Given the description of an element on the screen output the (x, y) to click on. 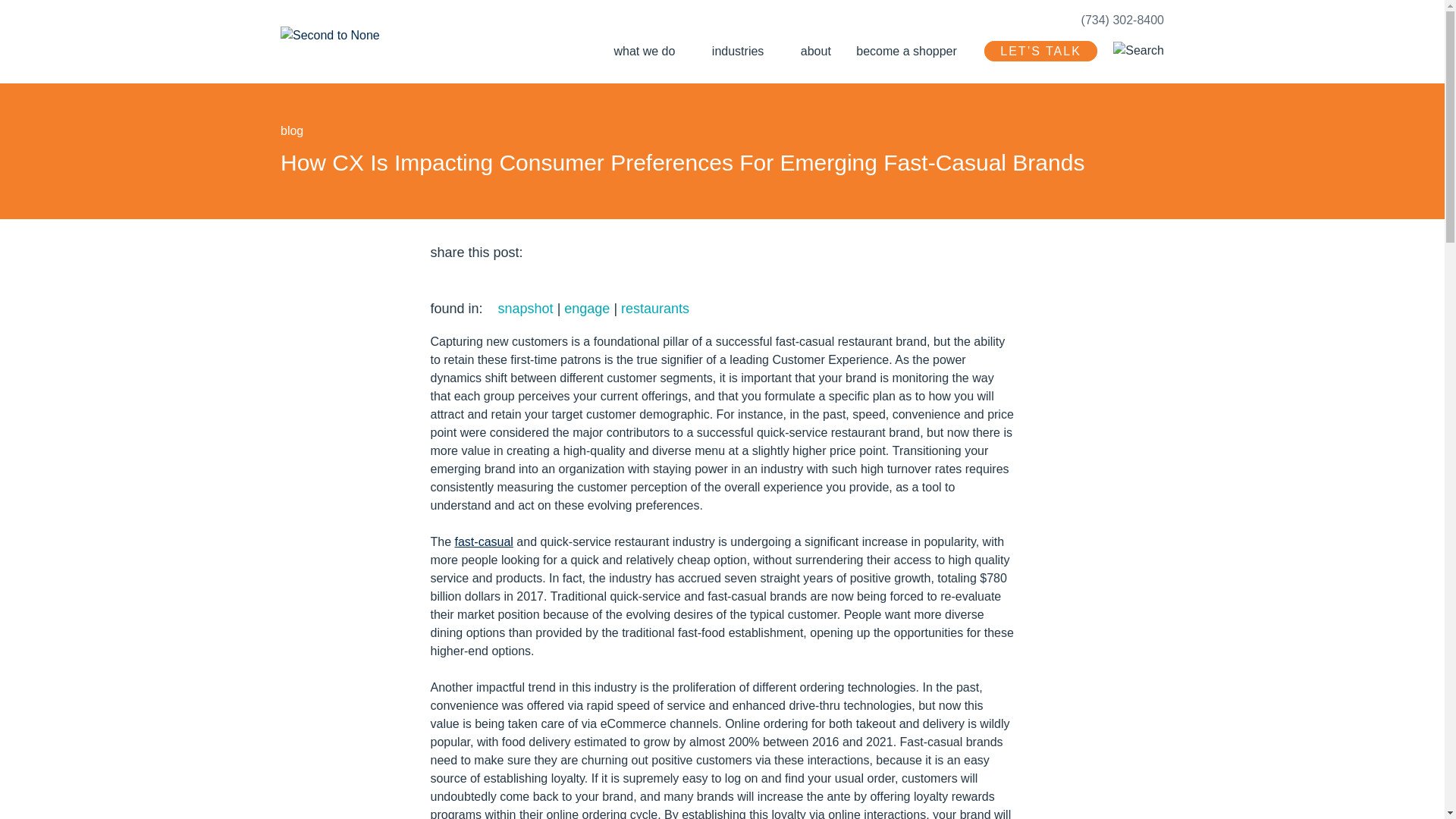
about (811, 48)
what we do (639, 48)
become a shopper (901, 48)
industries (732, 48)
